Given the description of an element on the screen output the (x, y) to click on. 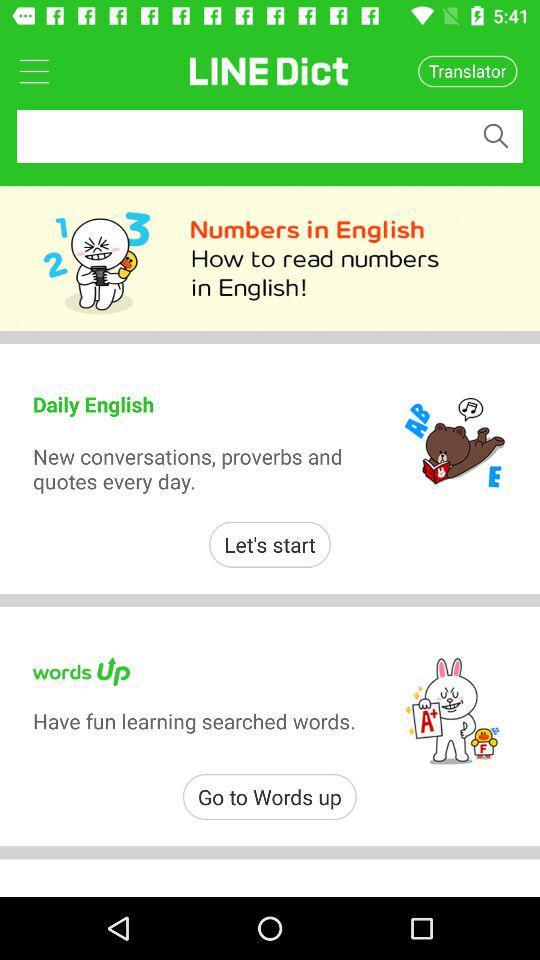
open menu (33, 70)
